Given the description of an element on the screen output the (x, y) to click on. 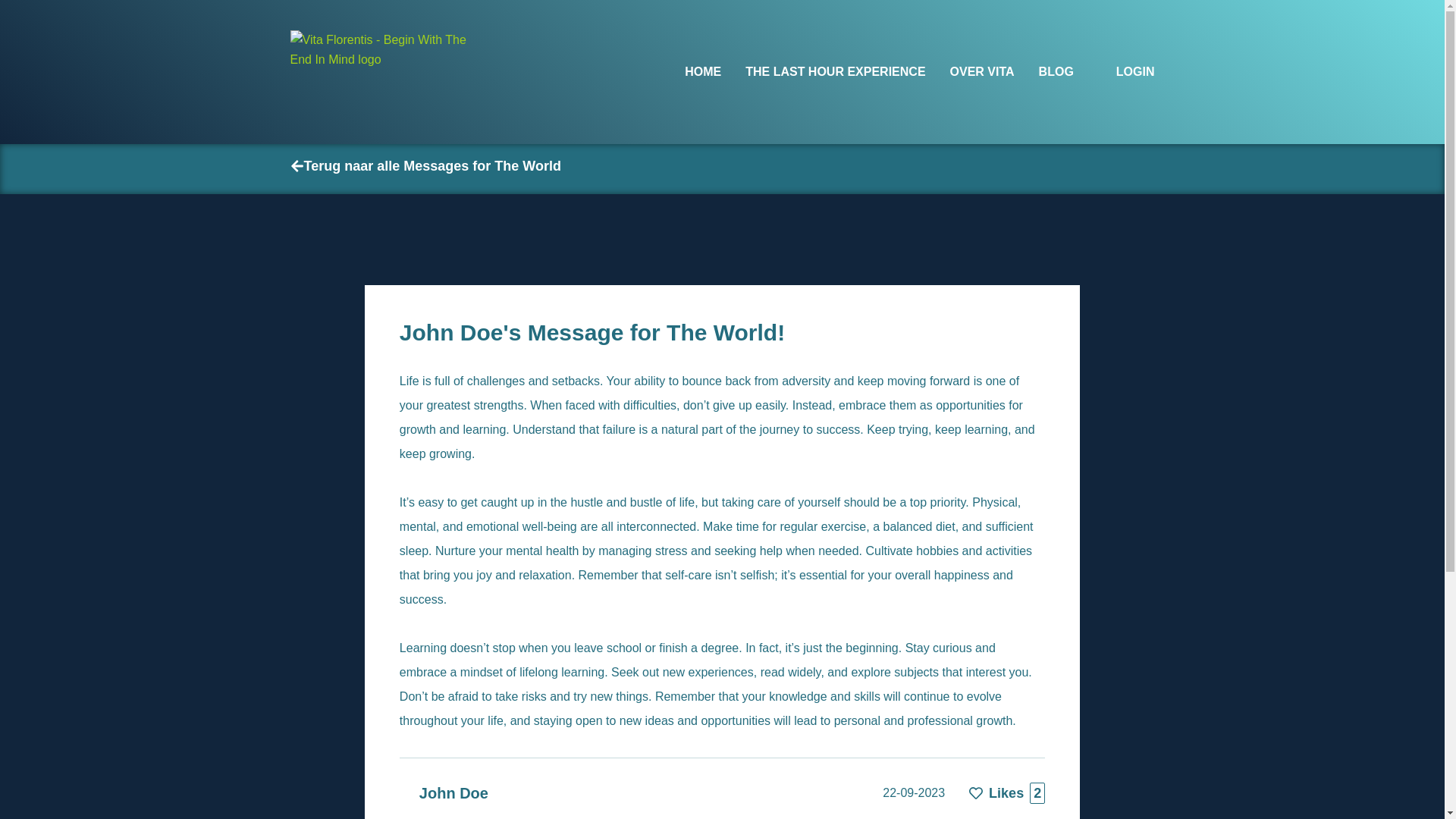
OVER VITA (982, 71)
HOME (702, 71)
LOGIN (1125, 71)
Terug naar alle Messages for The World (424, 166)
BLOG (1056, 71)
THE LAST HOUR EXPERIENCE (834, 71)
